Given the description of an element on the screen output the (x, y) to click on. 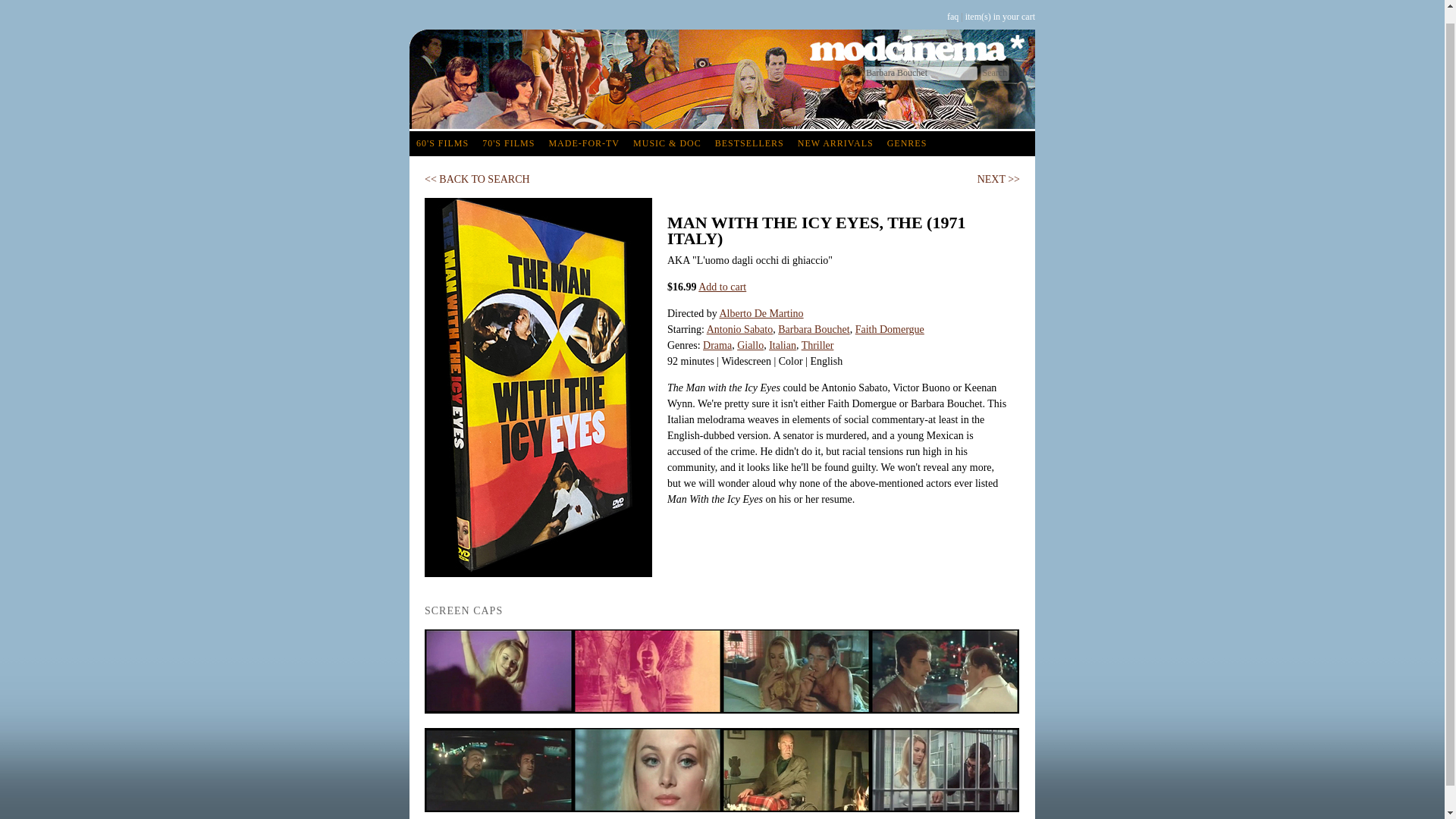
Thriller (818, 345)
Antonio Sabato (739, 328)
NEW ARRIVALS (835, 143)
Barbara Bouchet (920, 73)
MADE-FOR-TV (583, 143)
faq (952, 16)
Italian (782, 345)
Barbara Bouchet (812, 328)
Faith Domergue (890, 328)
GENRES (907, 143)
Add to cart (721, 286)
Giallo (749, 345)
60'S FILMS (442, 143)
Search (994, 73)
Alberto De Martino (761, 313)
